Given the description of an element on the screen output the (x, y) to click on. 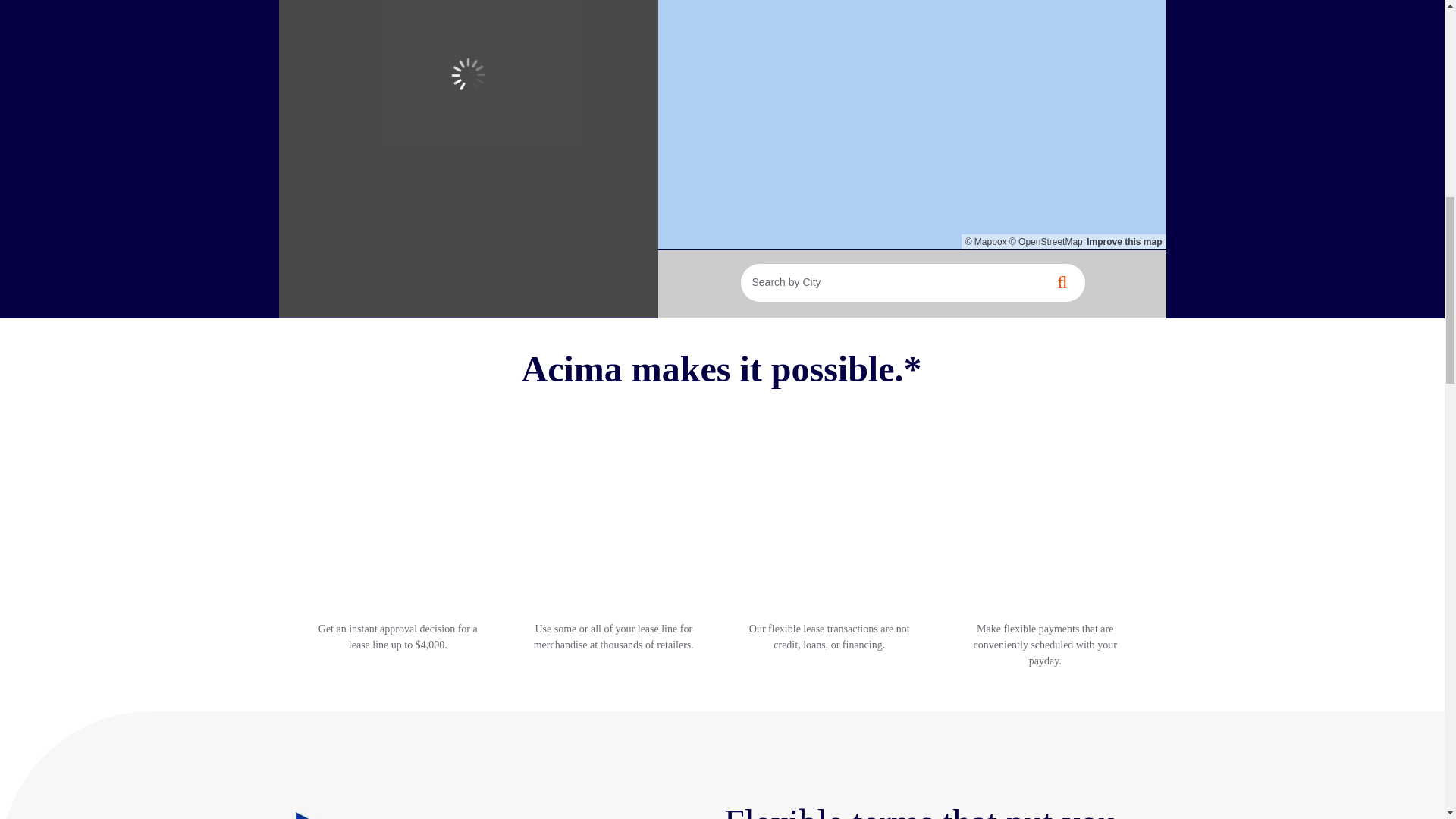
OpenStreetMap (1046, 241)
Mapbox (986, 241)
